Given the description of an element on the screen output the (x, y) to click on. 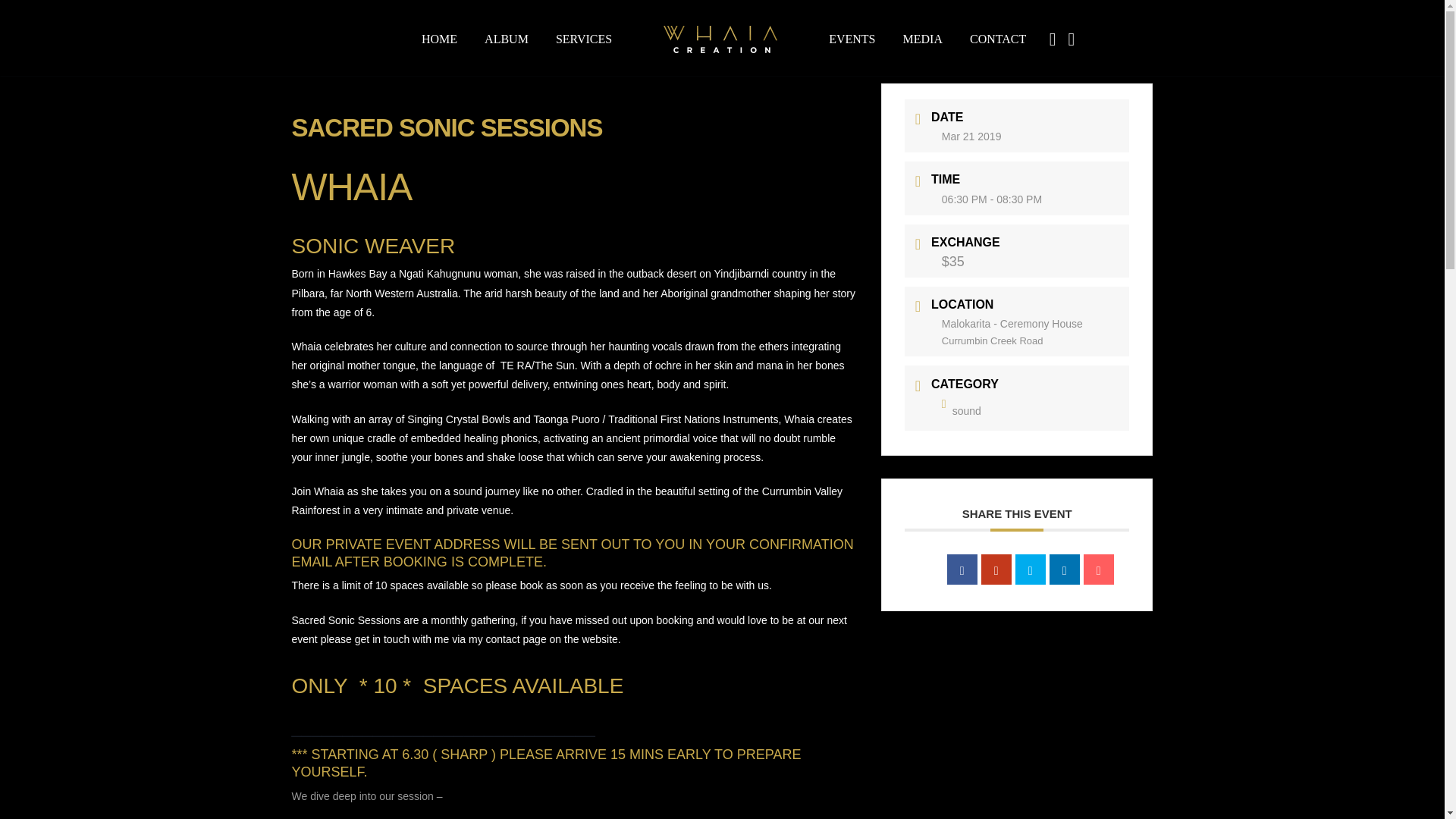
HOME (439, 38)
MEDIA (922, 38)
s (1206, 117)
ALBUM (506, 38)
SERVICES (583, 38)
Google Plus (996, 569)
EVENTS (851, 38)
sound (961, 410)
Email (1098, 569)
Share on Facebook (961, 569)
Tweet (1029, 569)
CONTACT (997, 38)
Linkedin (1064, 569)
